Given the description of an element on the screen output the (x, y) to click on. 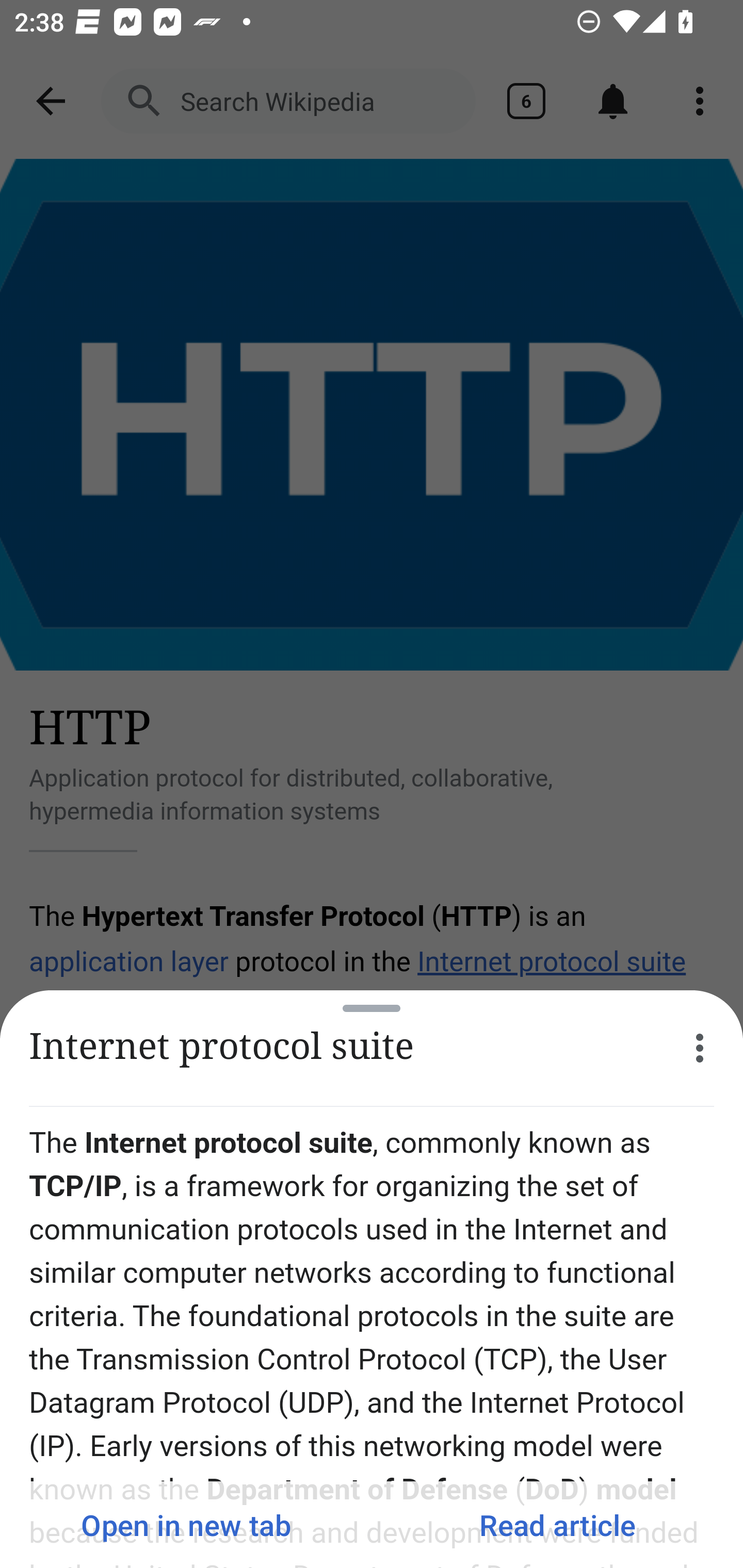
Internet protocol suite More options (371, 1047)
More options (699, 1048)
Open in new tab (185, 1524)
Read article (557, 1524)
